Given the description of an element on the screen output the (x, y) to click on. 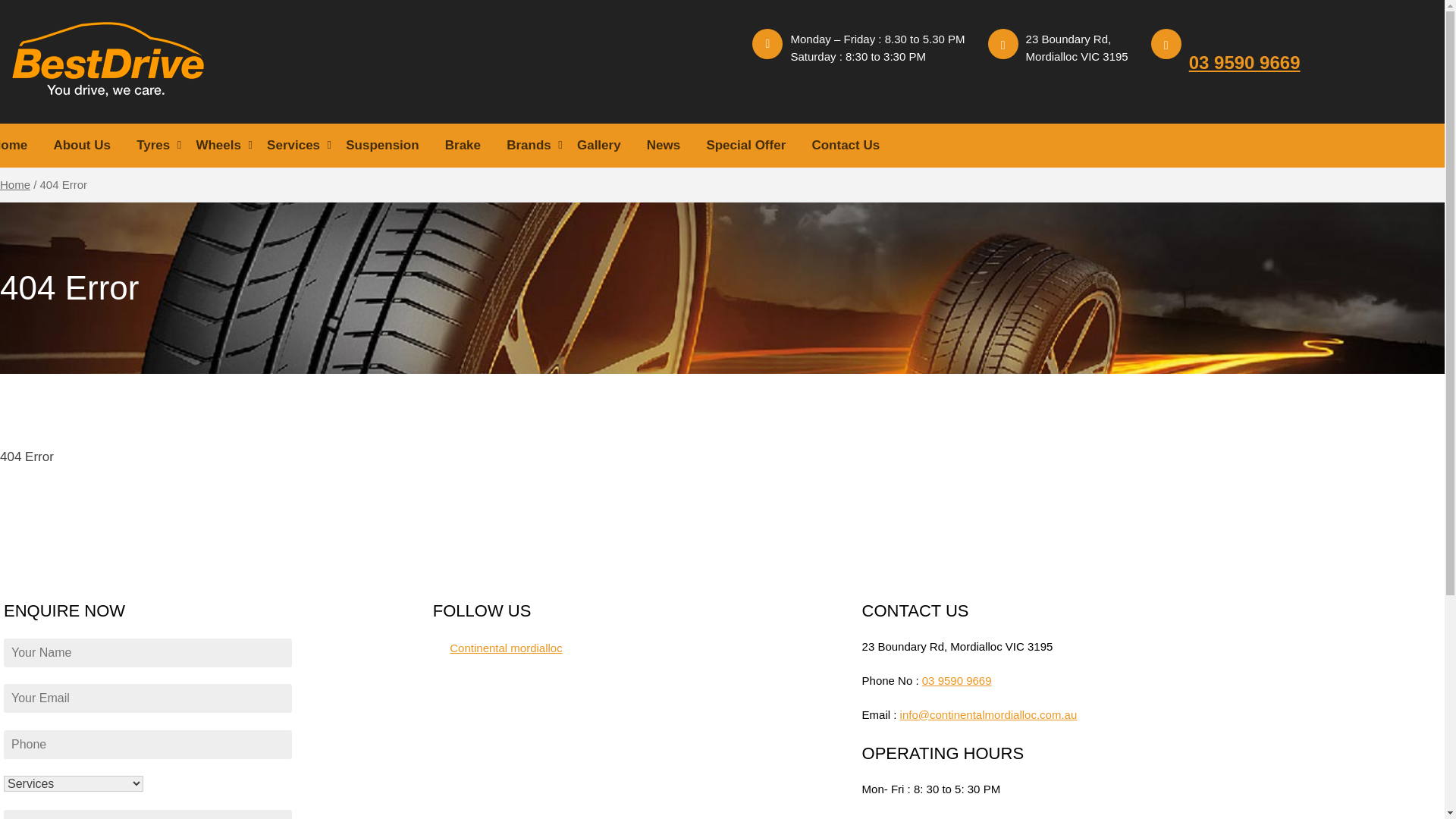
Gallery Element type: text (599, 145)
Contact Us Element type: text (845, 145)
About Us Element type: text (81, 145)
Special Offer Element type: text (745, 145)
Suspension Element type: text (381, 145)
Home Element type: text (15, 183)
Continental mordialloc Element type: text (505, 647)
03 9590 9669 Element type: text (956, 679)
Brake Element type: text (462, 145)
03 9590 9669 Element type: text (1244, 62)
info@continentalmordialloc.com.au Element type: text (988, 714)
News Element type: text (663, 145)
Tyres Element type: text (152, 145)
Brands Element type: text (528, 145)
Services Element type: text (293, 145)
Wheels Element type: text (218, 145)
